Given the description of an element on the screen output the (x, y) to click on. 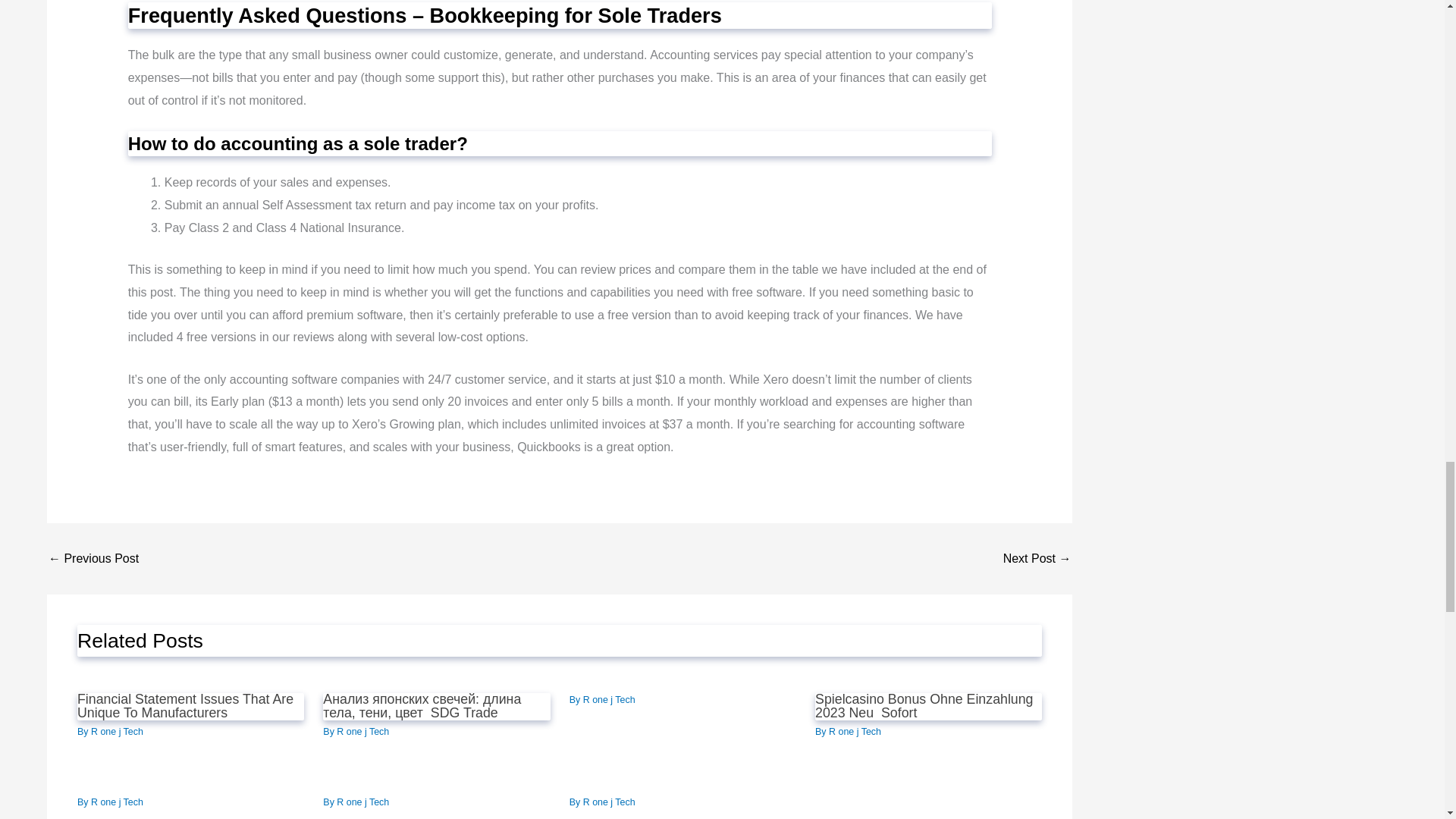
Financial Statement Issues That Are Unique To Manufacturers (93, 558)
R one j Tech (116, 801)
R one j Tech (854, 731)
R one j Tech (116, 731)
Financial Statement Issues That Are Unique To Manufacturers (185, 705)
View all posts by R one j Tech (362, 731)
R one j Tech (608, 699)
View all posts by R one j Tech (116, 731)
R one j Tech (362, 801)
R one j Tech (362, 731)
